Given the description of an element on the screen output the (x, y) to click on. 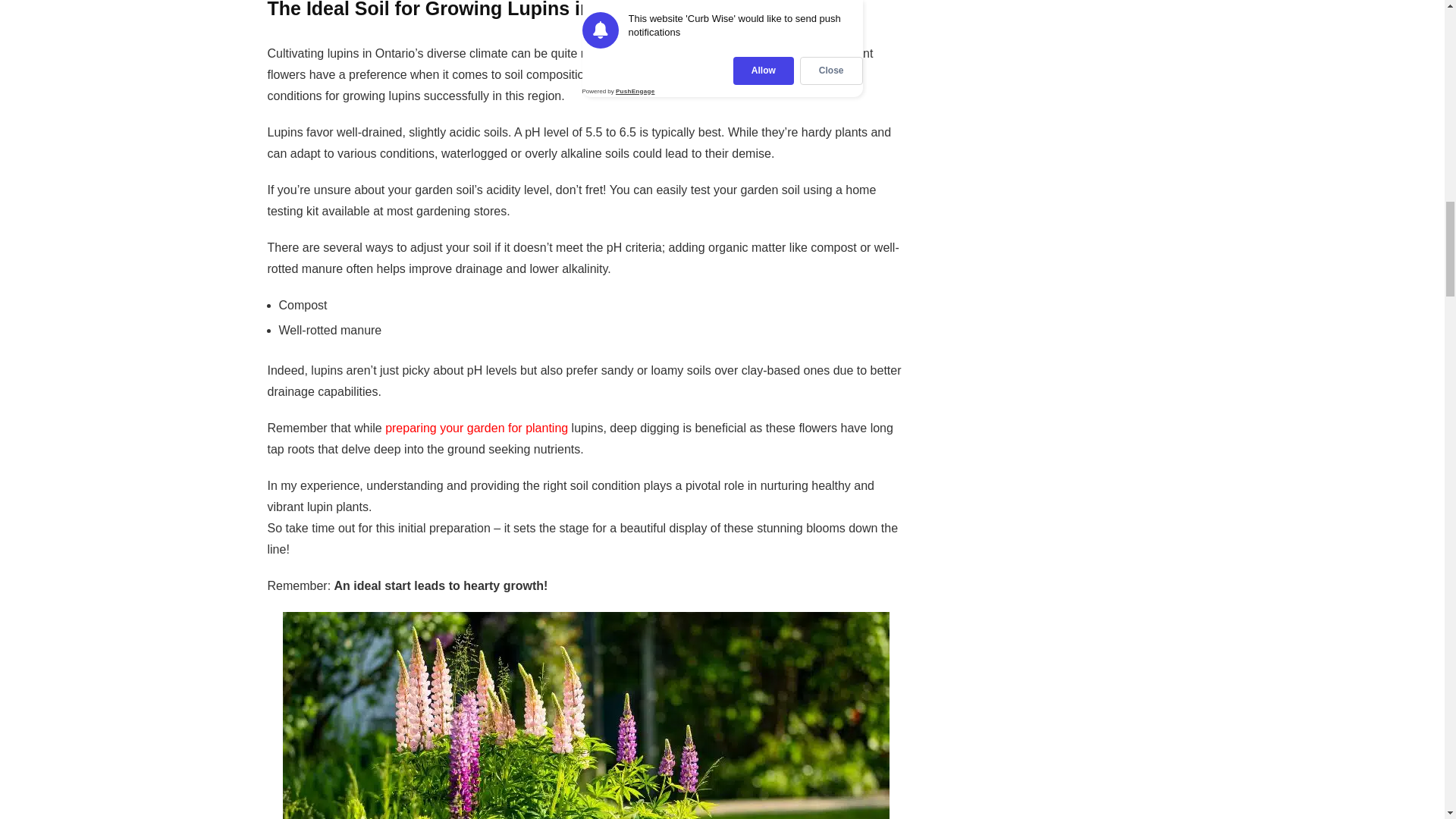
Growing Lupins in Ontario: My Expert Tips for Success 2 (585, 715)
